Given the description of an element on the screen output the (x, y) to click on. 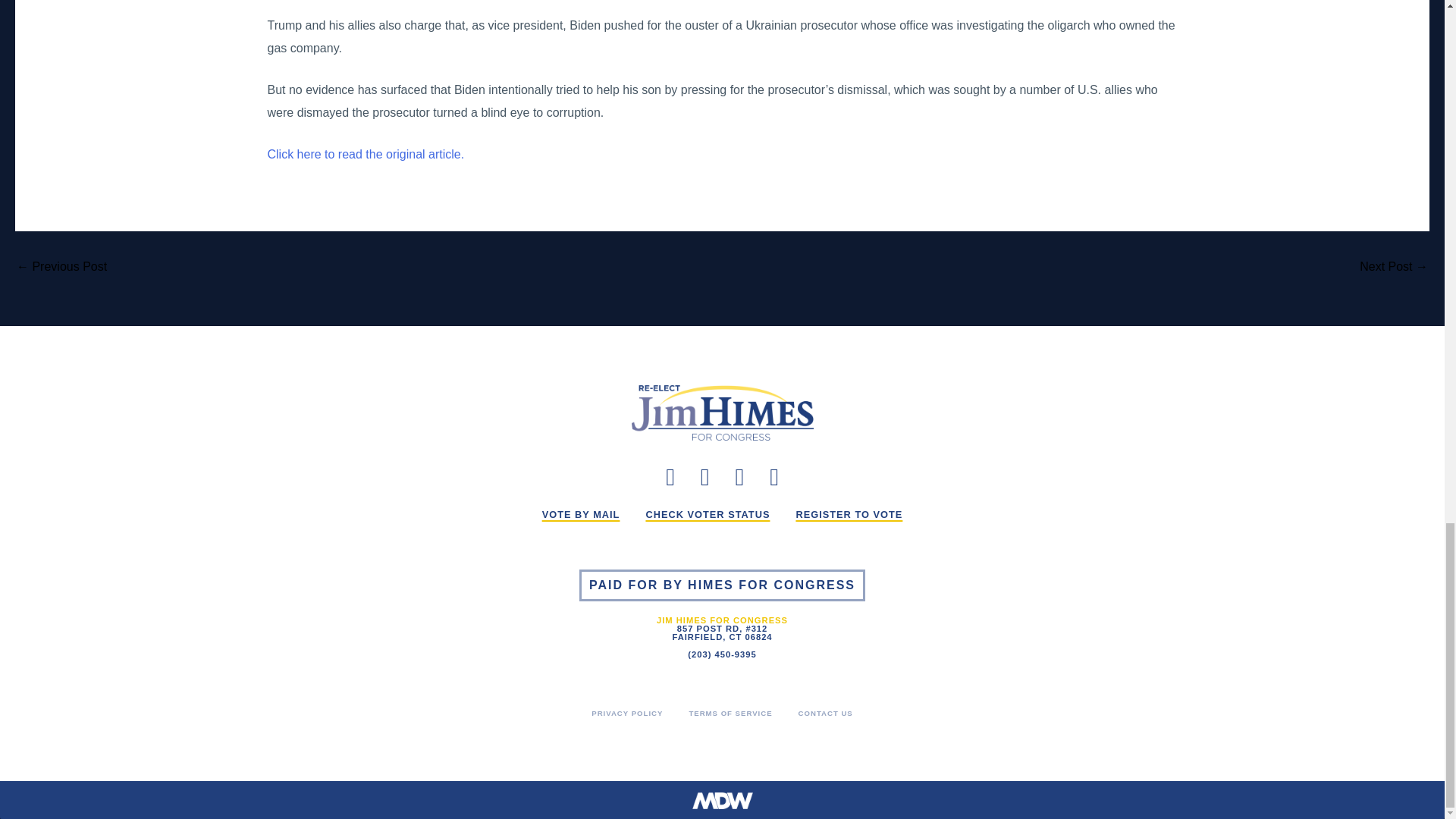
CHECK VOTER STATUS (707, 515)
PRIVACY POLICY (626, 713)
TERMS OF SERVICE (730, 713)
CONTACT US (825, 713)
Click here to read the original article. (365, 154)
VOTE BY MAIL (580, 515)
REGISTER TO VOTE (848, 515)
